Given the description of an element on the screen output the (x, y) to click on. 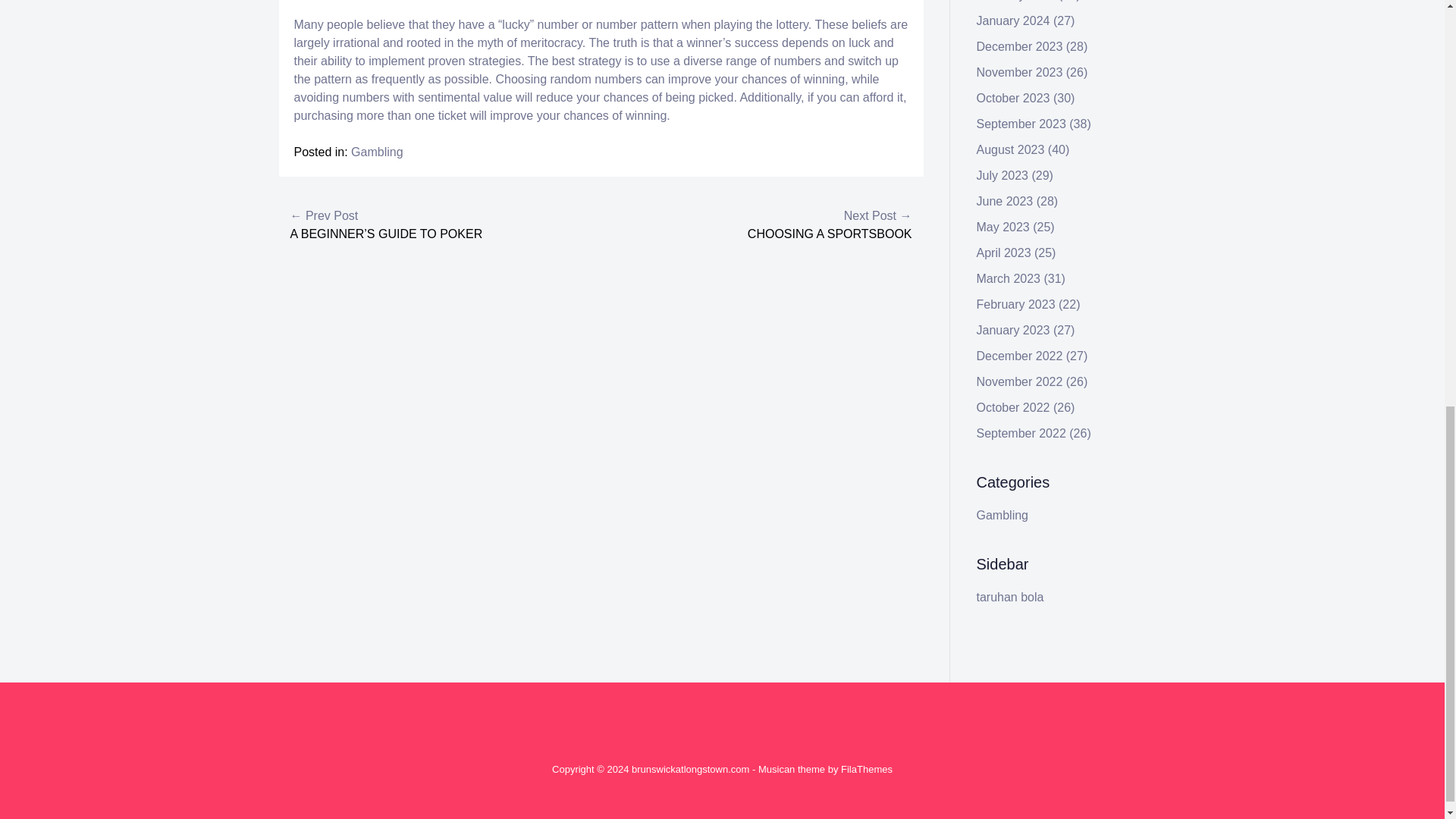
January 2023 (1012, 329)
October 2023 (1012, 97)
June 2023 (1004, 201)
March 2023 (1008, 278)
November 2023 (1019, 72)
Gambling (376, 151)
December 2022 (1019, 355)
August 2023 (1010, 149)
December 2023 (1019, 46)
May 2023 (1002, 226)
